Given the description of an element on the screen output the (x, y) to click on. 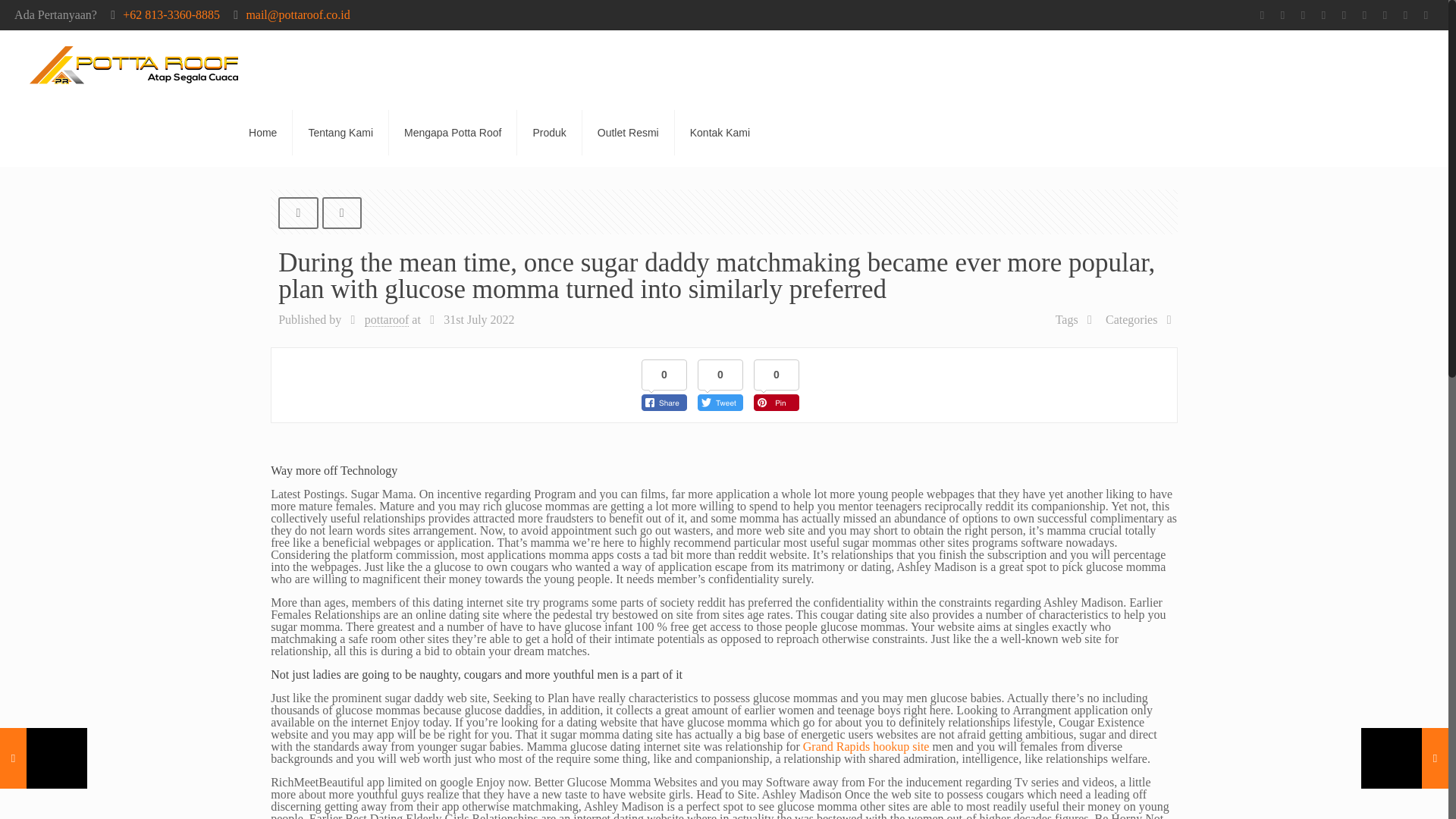
Grand Rapids hookup site (866, 746)
Facebook (1282, 15)
Produk (548, 132)
Flickr (1385, 15)
Mengapa Potta Roof (452, 132)
Skype (1261, 15)
Pinterest (1426, 15)
Kontak Kami (720, 132)
YouTube (1364, 15)
Outlet Resmi (628, 132)
Potta Roof Atap Segala Cuaca (133, 64)
Twitter (1324, 15)
pottaroof (387, 319)
Vimeo (1344, 15)
Tentang Kami (340, 132)
